Given the description of an element on the screen output the (x, y) to click on. 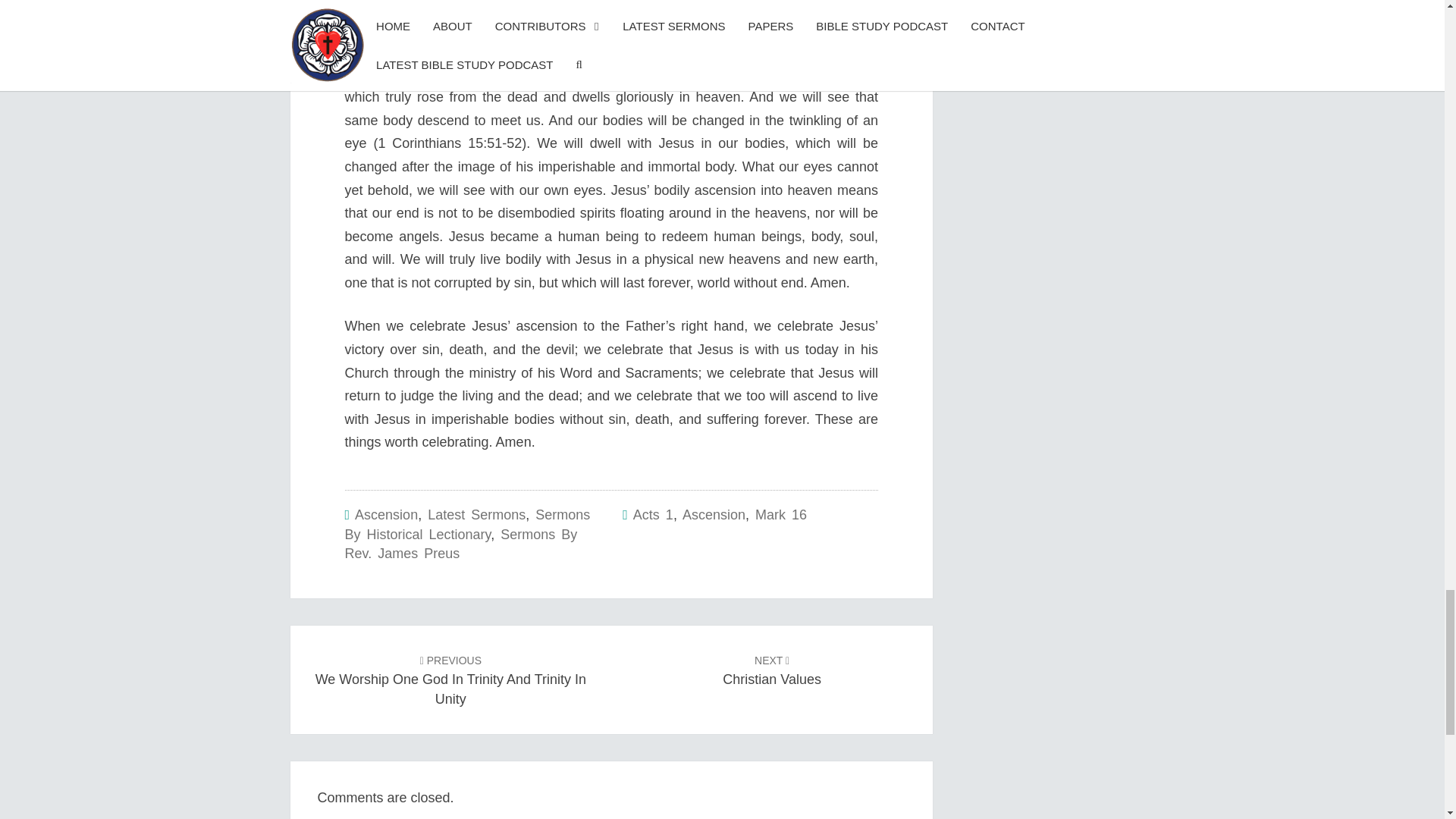
Sermons By Rev. James Preus (459, 544)
Acts 1 (652, 514)
Sermons By Historical Lectionary (450, 678)
Ascension (466, 524)
Latest Sermons (386, 514)
Mark 16 (476, 514)
Ascension (780, 514)
